Given the description of an element on the screen output the (x, y) to click on. 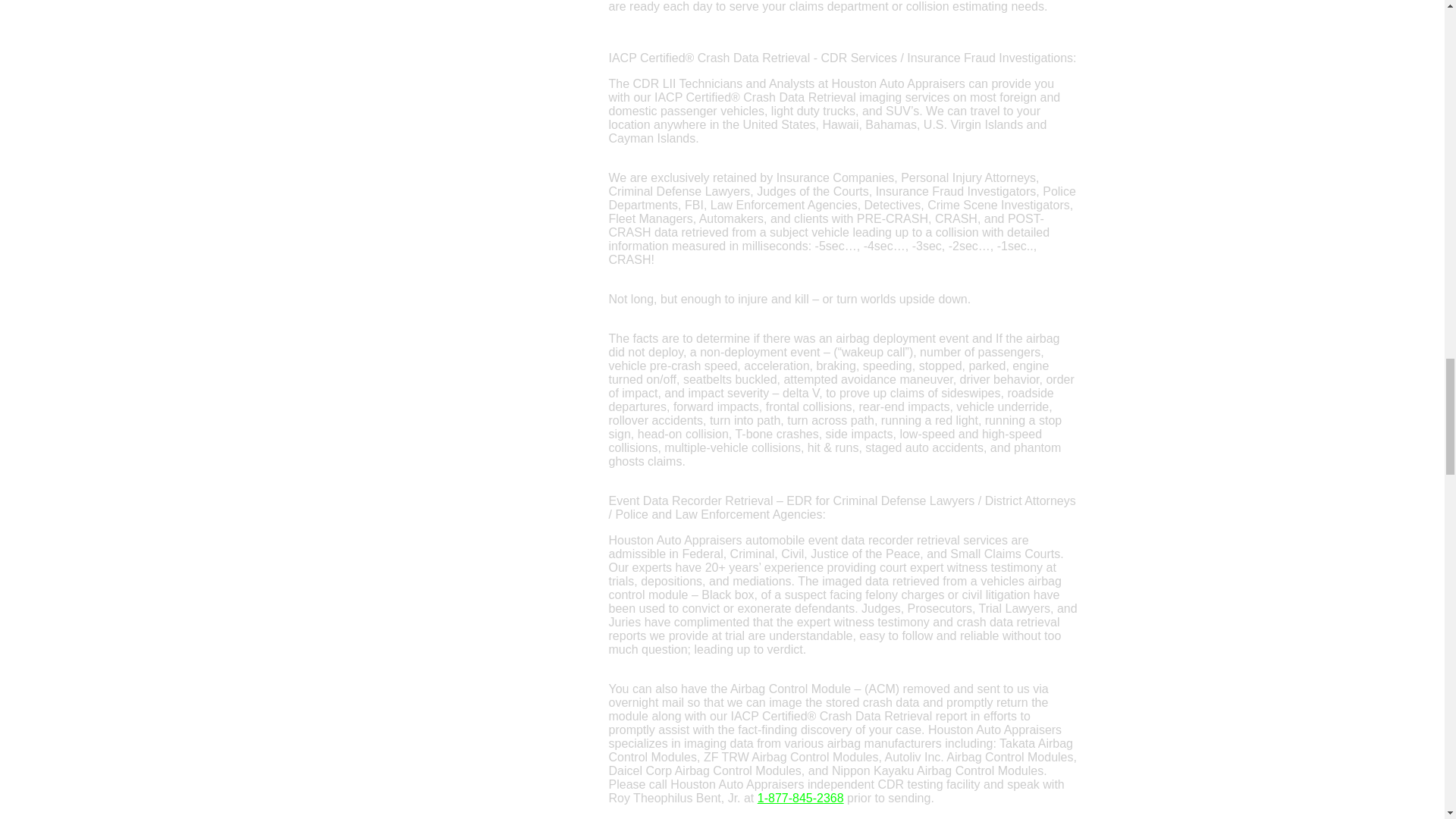
1-877-845-2368 (800, 797)
